Given the description of an element on the screen output the (x, y) to click on. 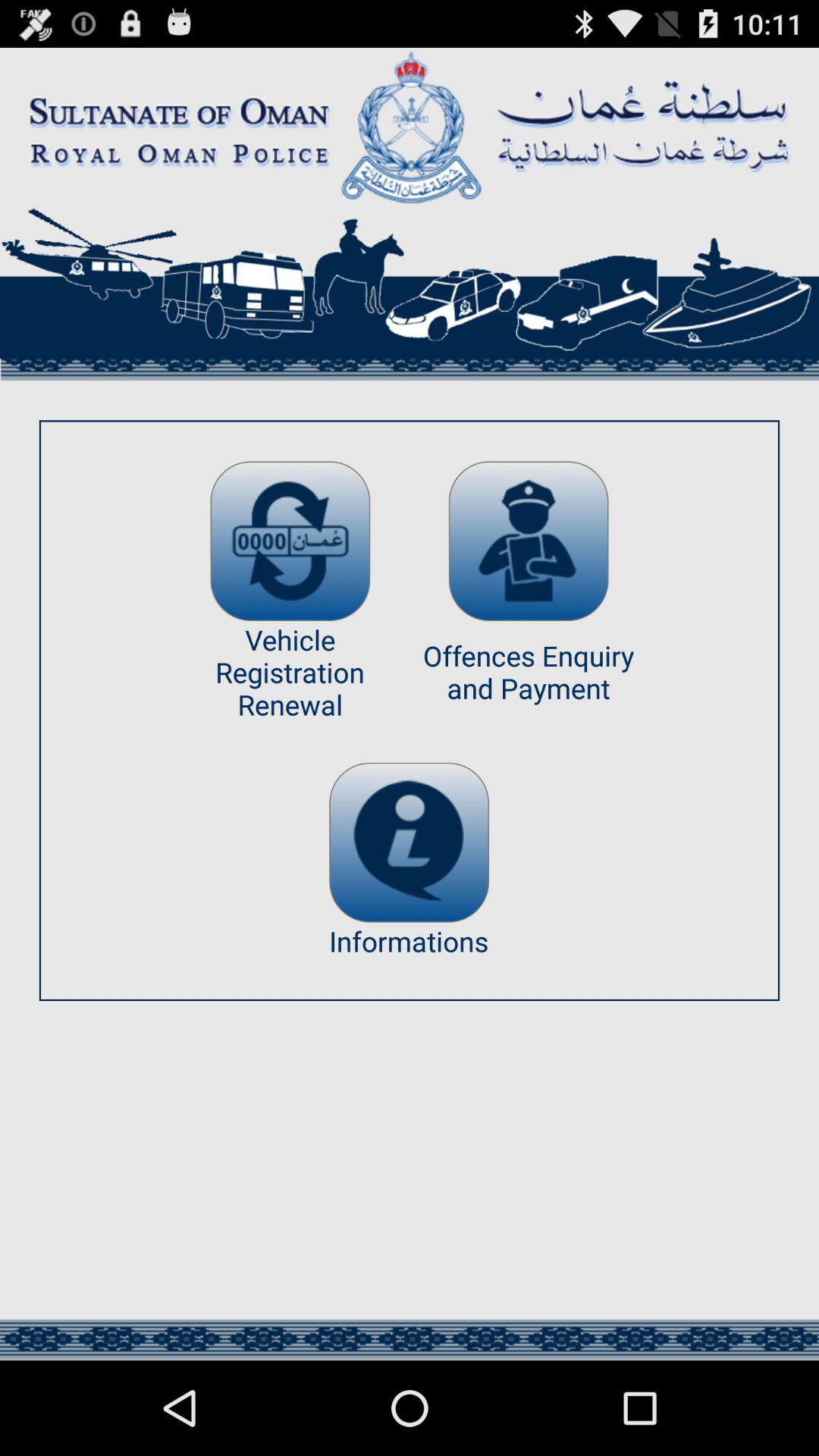
open offences enquiry (528, 541)
